Given the description of an element on the screen output the (x, y) to click on. 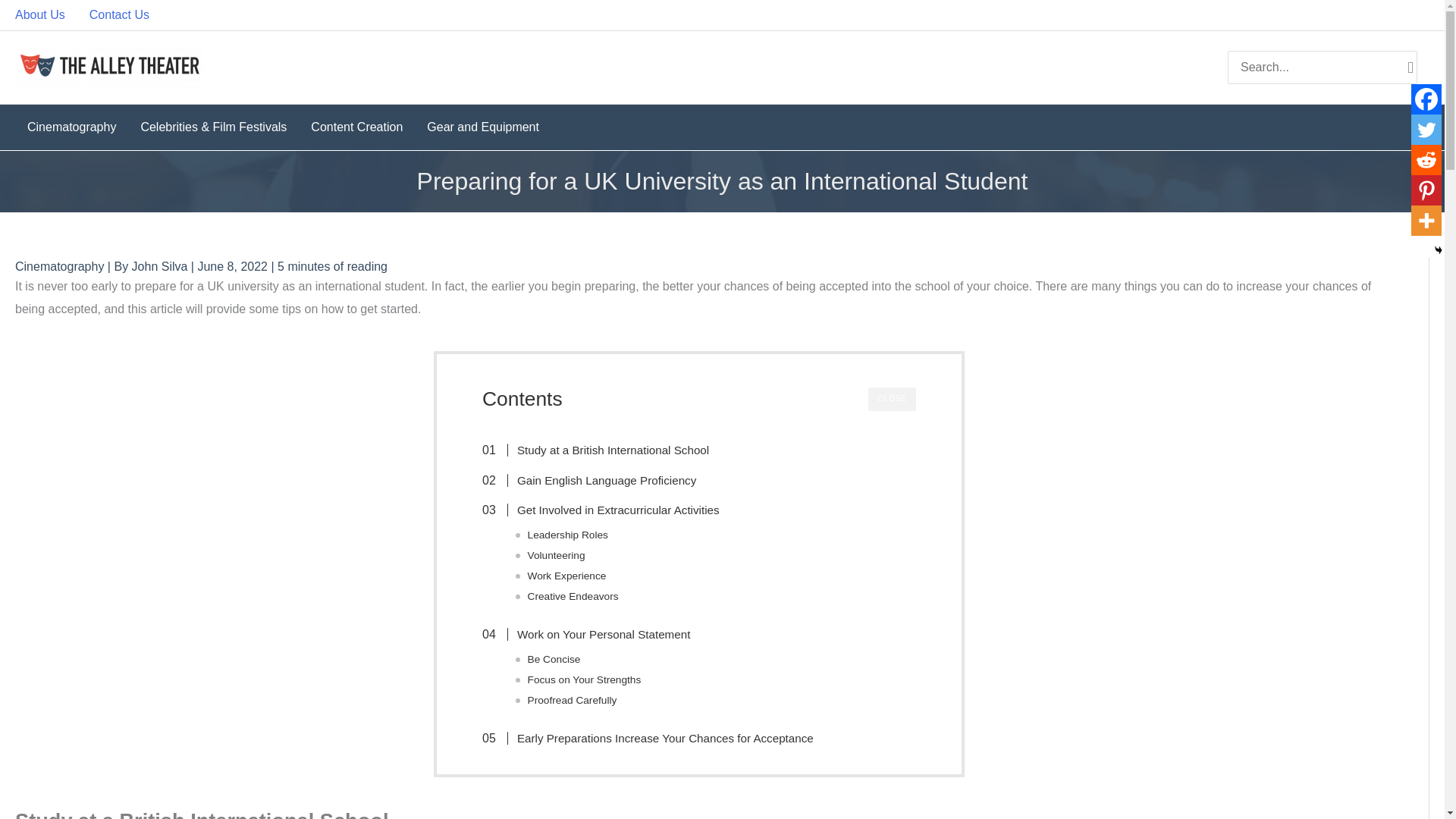
Work on Your Personal Statement (593, 634)
Focus on Your Strengths (584, 679)
Cinematography (71, 126)
Cinematography (58, 266)
View all posts by John Silva (161, 266)
Twitter (1425, 129)
CLOSE (891, 399)
Study at a British International School (603, 450)
Be Concise (553, 659)
Get Involved in Extracurricular Activities (608, 510)
About Us (45, 15)
Contact Us (119, 15)
Gear and Equipment (482, 126)
Work Experience (567, 575)
Pinterest (1425, 190)
